Given the description of an element on the screen output the (x, y) to click on. 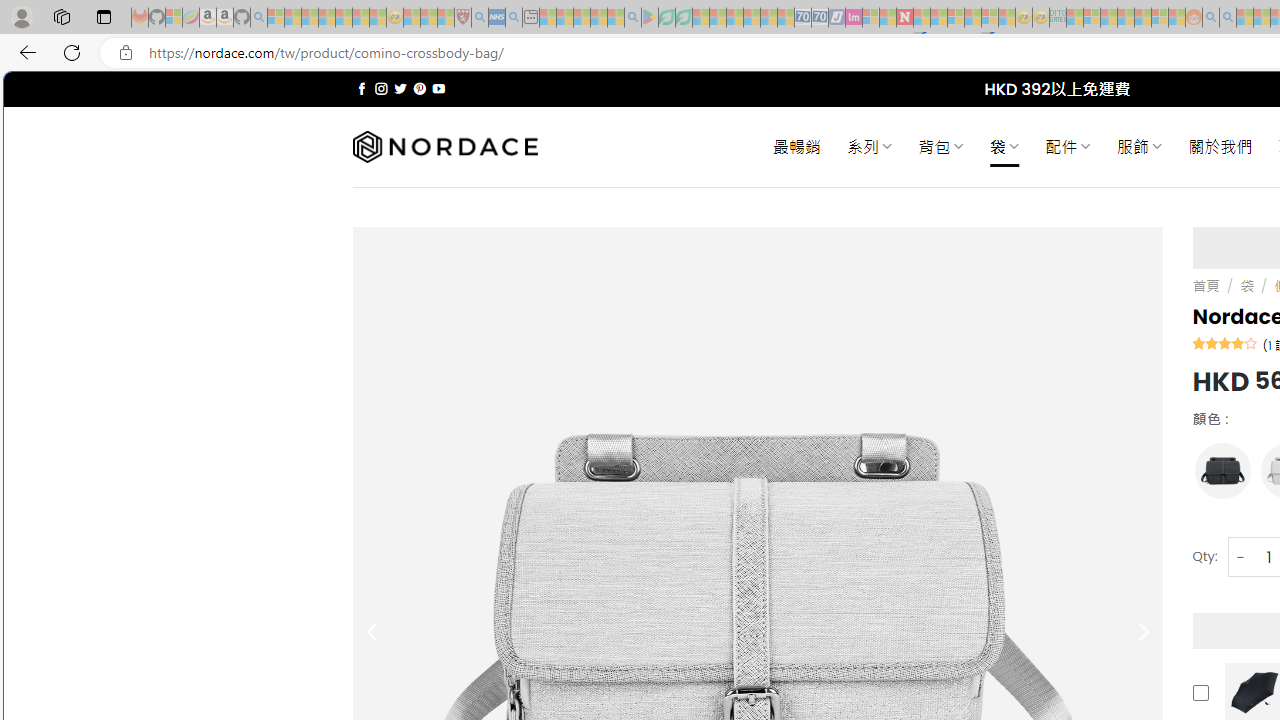
Follow on Twitter (400, 88)
- (1240, 557)
